Given the description of an element on the screen output the (x, y) to click on. 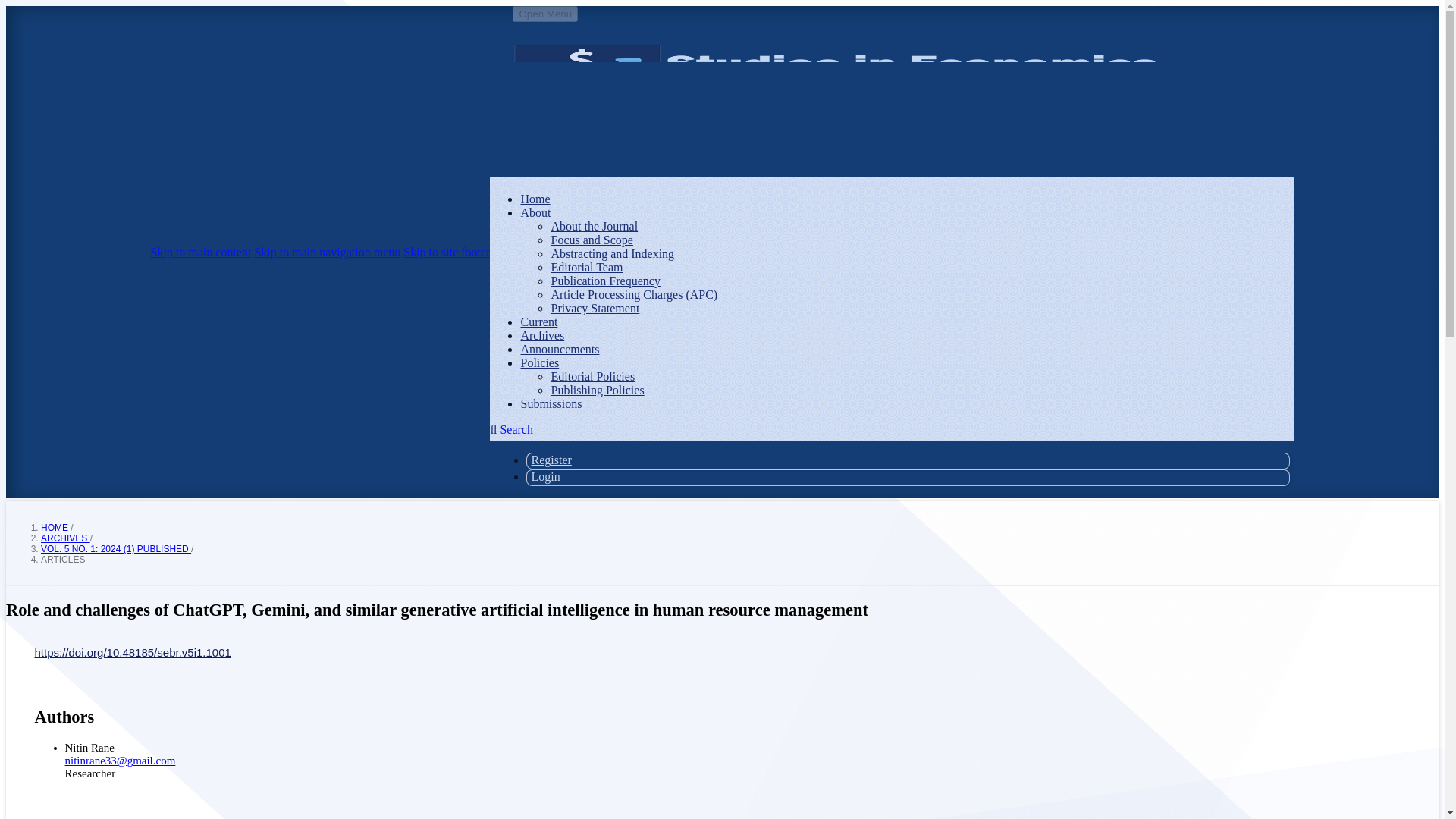
About the Journal (593, 226)
HOME (54, 527)
Skip to main navigation menu (326, 251)
Focus and Scope (590, 239)
Editorial Policies (592, 376)
Open Menu (545, 13)
Register (550, 459)
Announcements (558, 349)
Search (510, 429)
Login (545, 476)
